Given the description of an element on the screen output the (x, y) to click on. 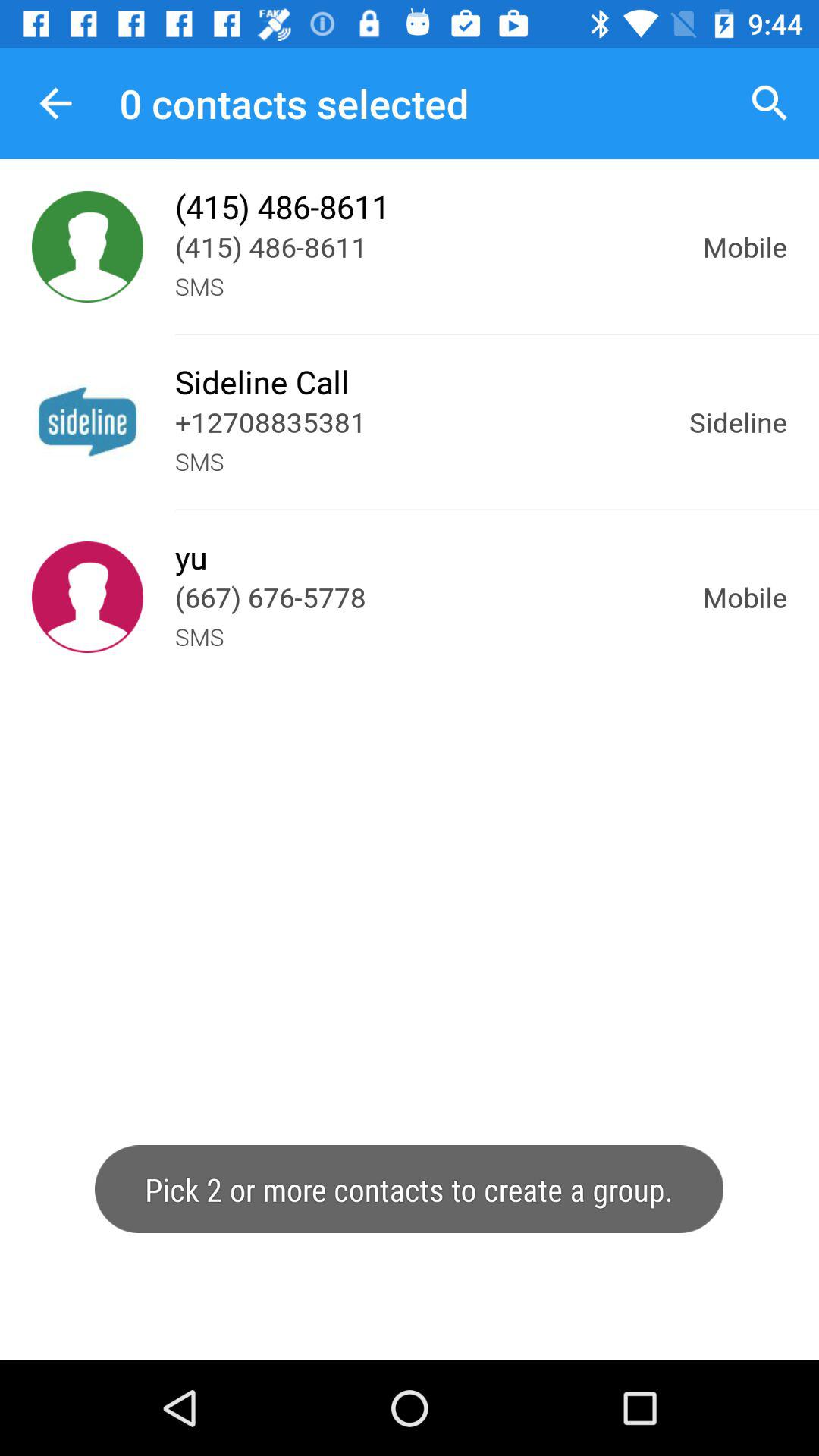
contact photo (87, 246)
